Given the description of an element on the screen output the (x, y) to click on. 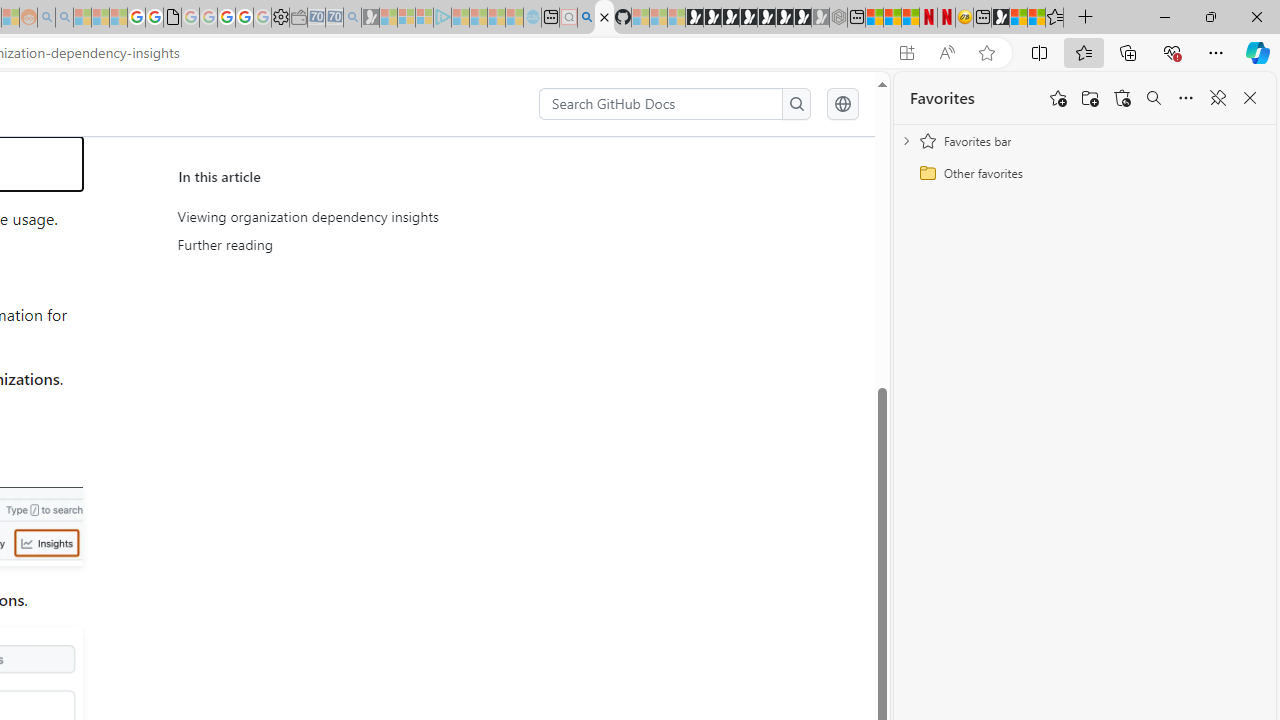
Add folder (1089, 98)
